Given the description of an element on the screen output the (x, y) to click on. 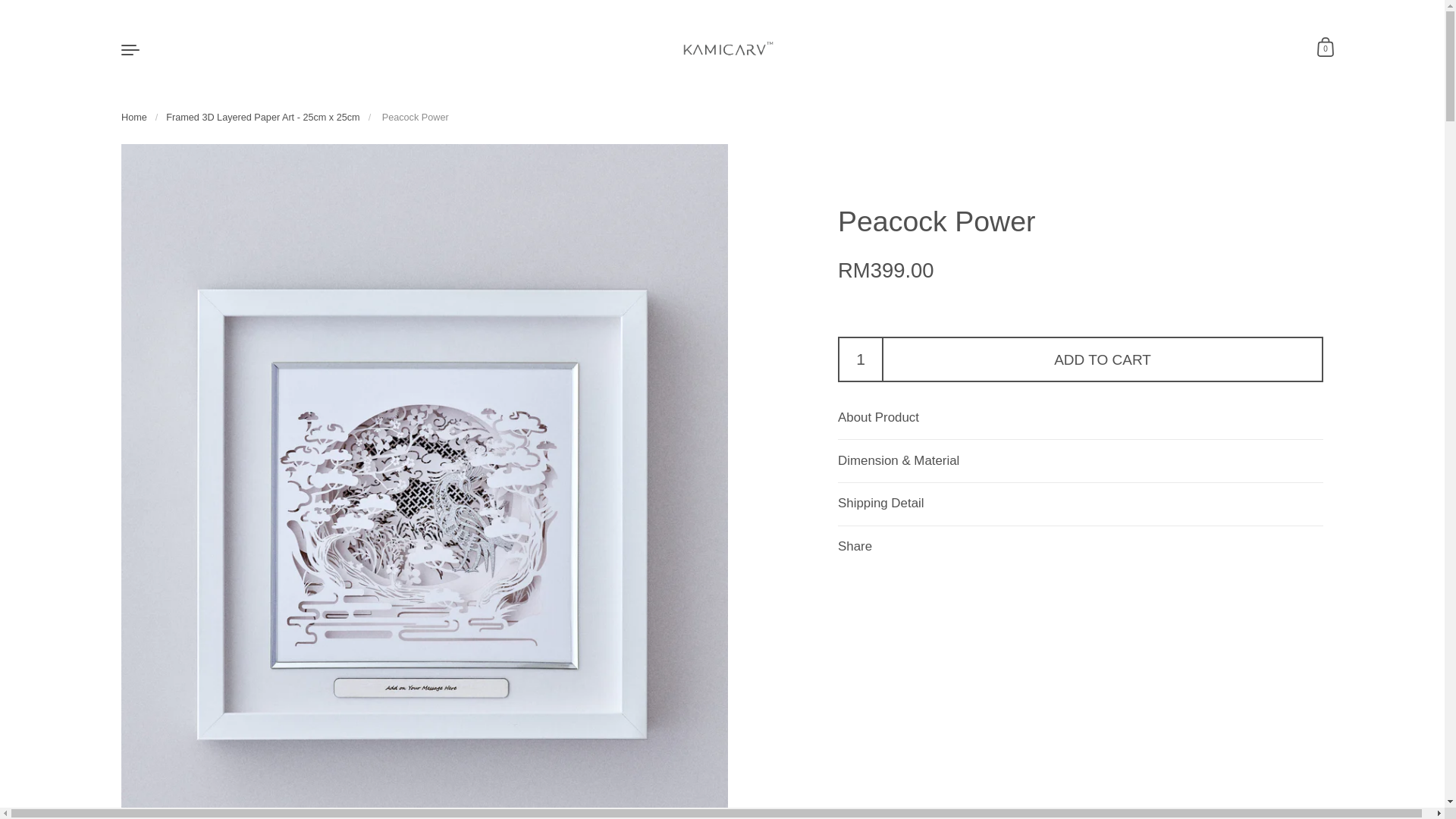
Framed 3D Layered Paper Art - 25cm x 25cm (262, 117)
KAMICARV SDN BHD  (727, 48)
ADD TO CART (1102, 359)
0 (1325, 48)
Home (133, 117)
1 (860, 359)
